Given the description of an element on the screen output the (x, y) to click on. 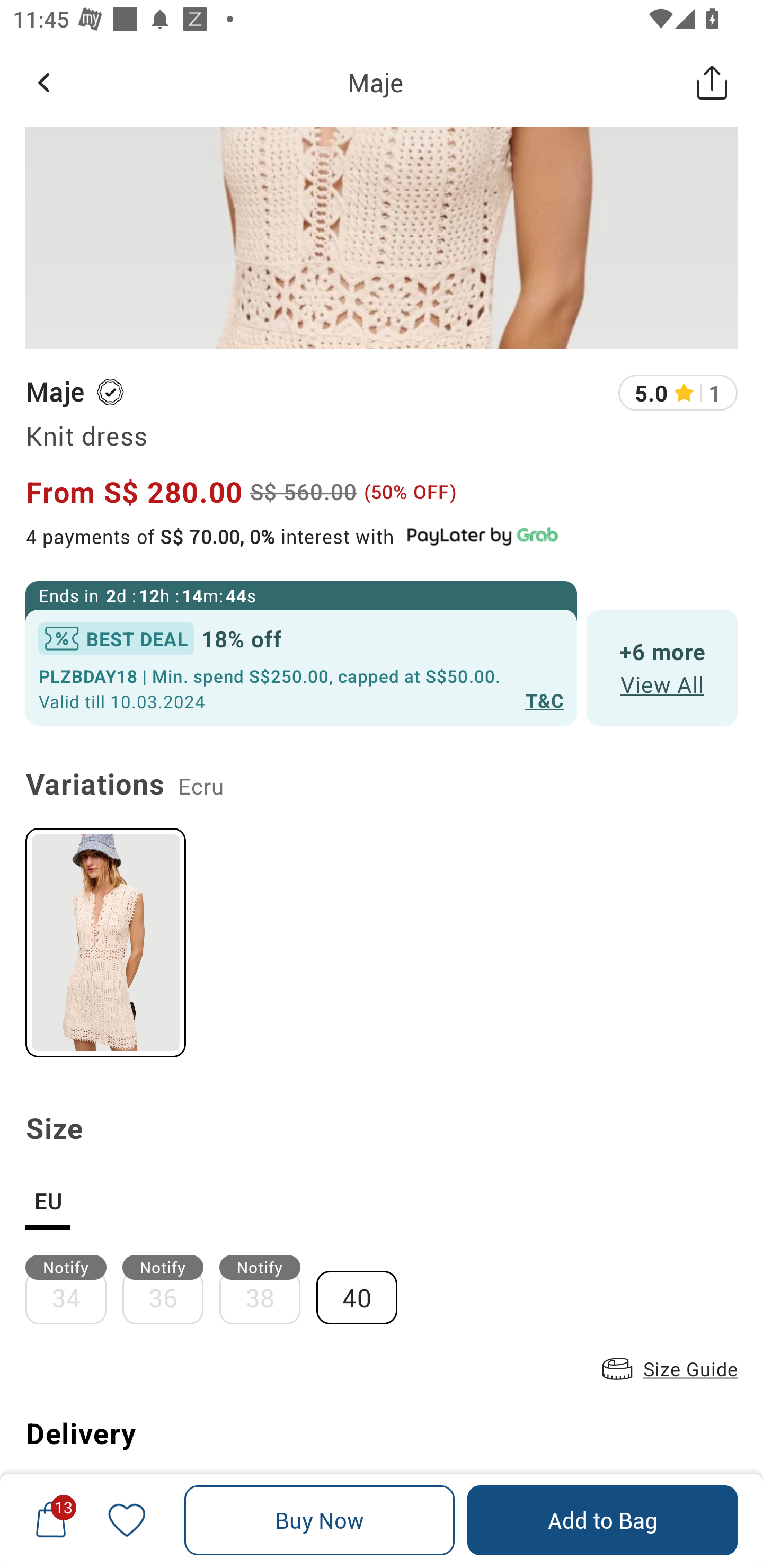
Maje (375, 82)
Share this Product (711, 82)
Maje (54, 391)
5.0 1 (677, 392)
+6 more
View All (661, 667)
T&C (544, 699)
Notify 34 (73, 1289)
Notify 36 (170, 1289)
Notify 38 (267, 1289)
40 (364, 1289)
Size Guide (667, 1368)
Buy Now (319, 1519)
Add to Bag (601, 1519)
13 (50, 1520)
